Given the description of an element on the screen output the (x, y) to click on. 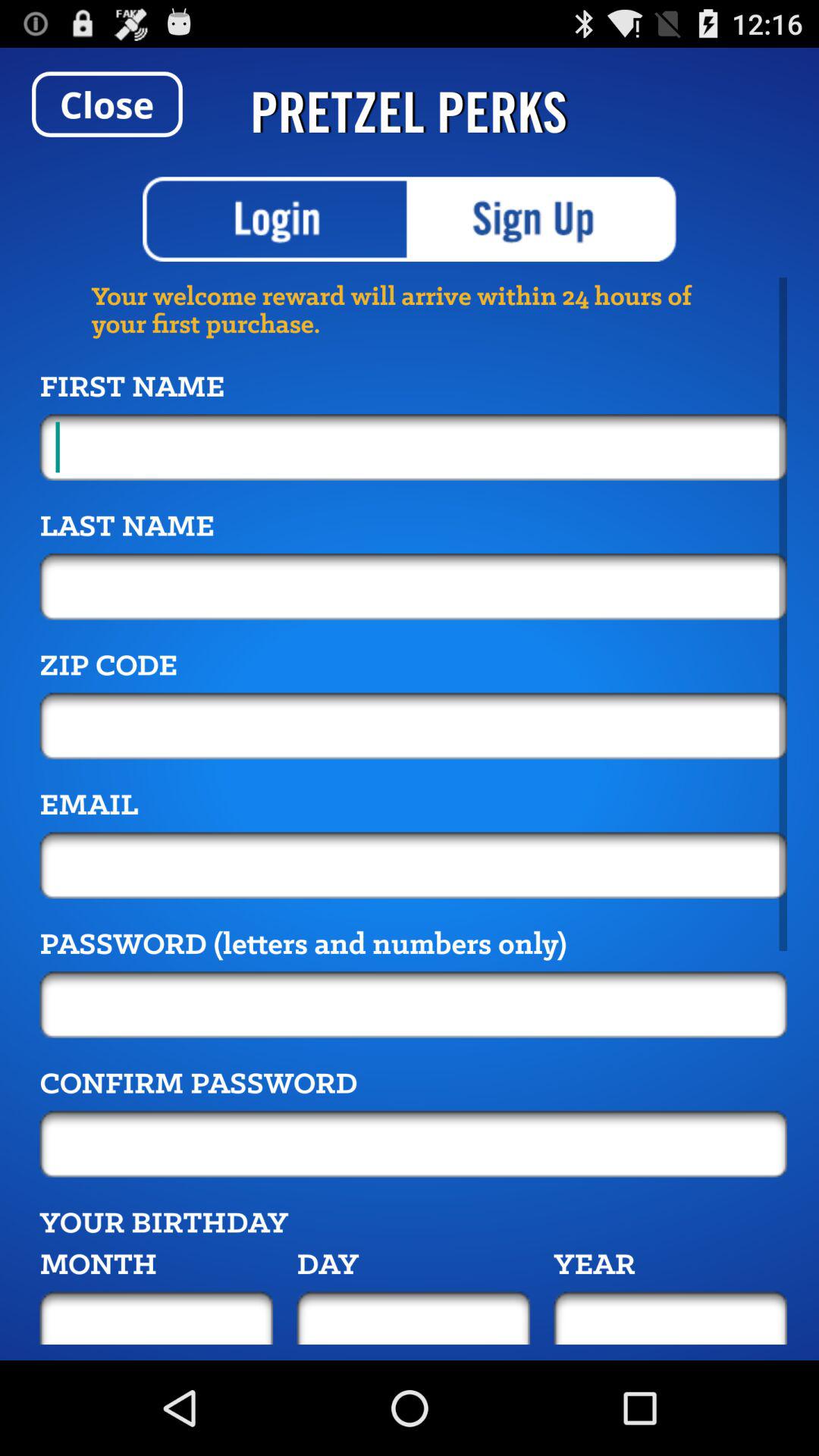
open the close (106, 104)
